Given the description of an element on the screen output the (x, y) to click on. 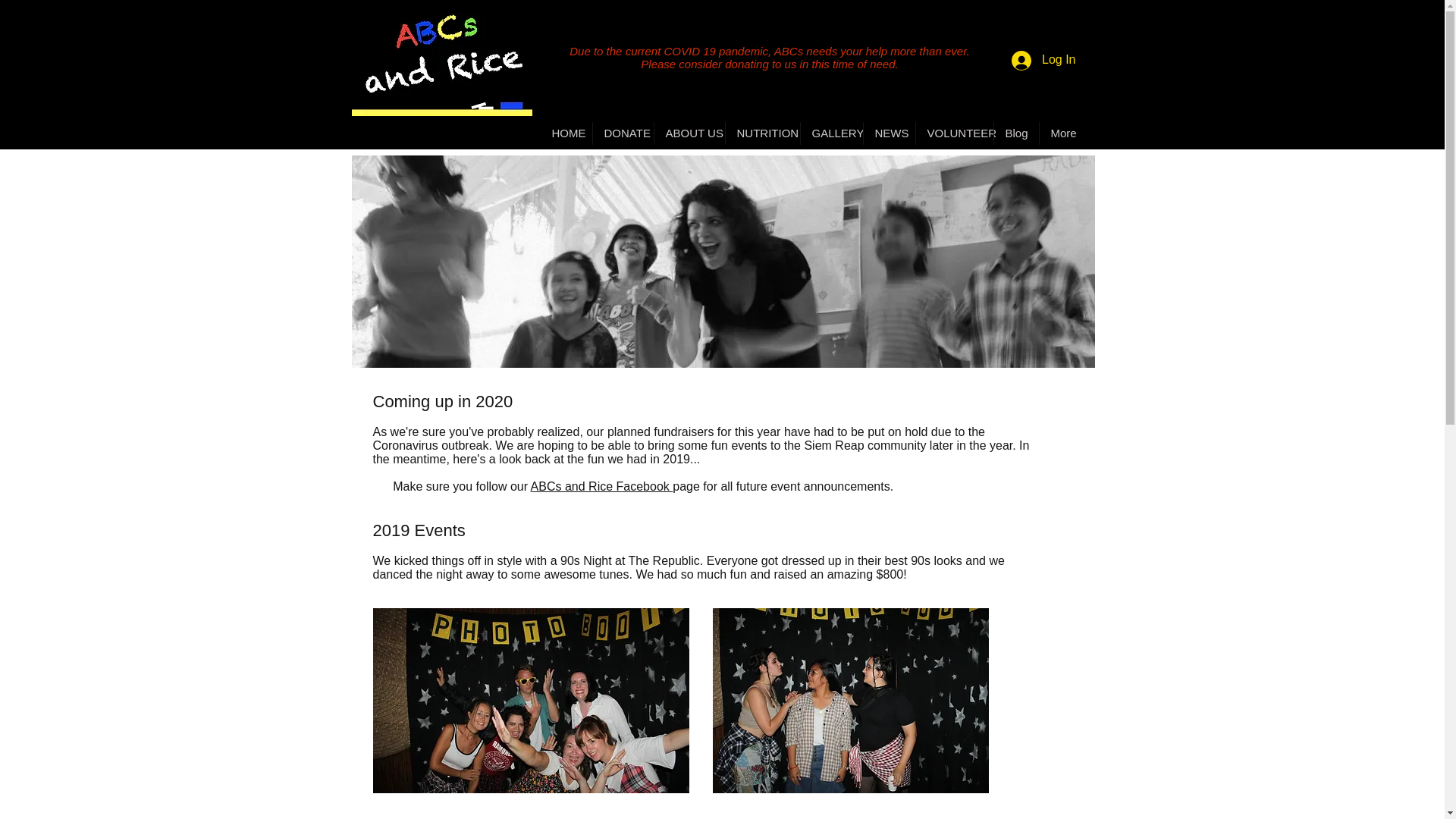
DONATE (622, 133)
HOME (565, 133)
ABCs and Rice Facebook (601, 486)
VOLUNTEER (953, 133)
Log In (1043, 59)
Blog (1015, 133)
